Given the description of an element on the screen output the (x, y) to click on. 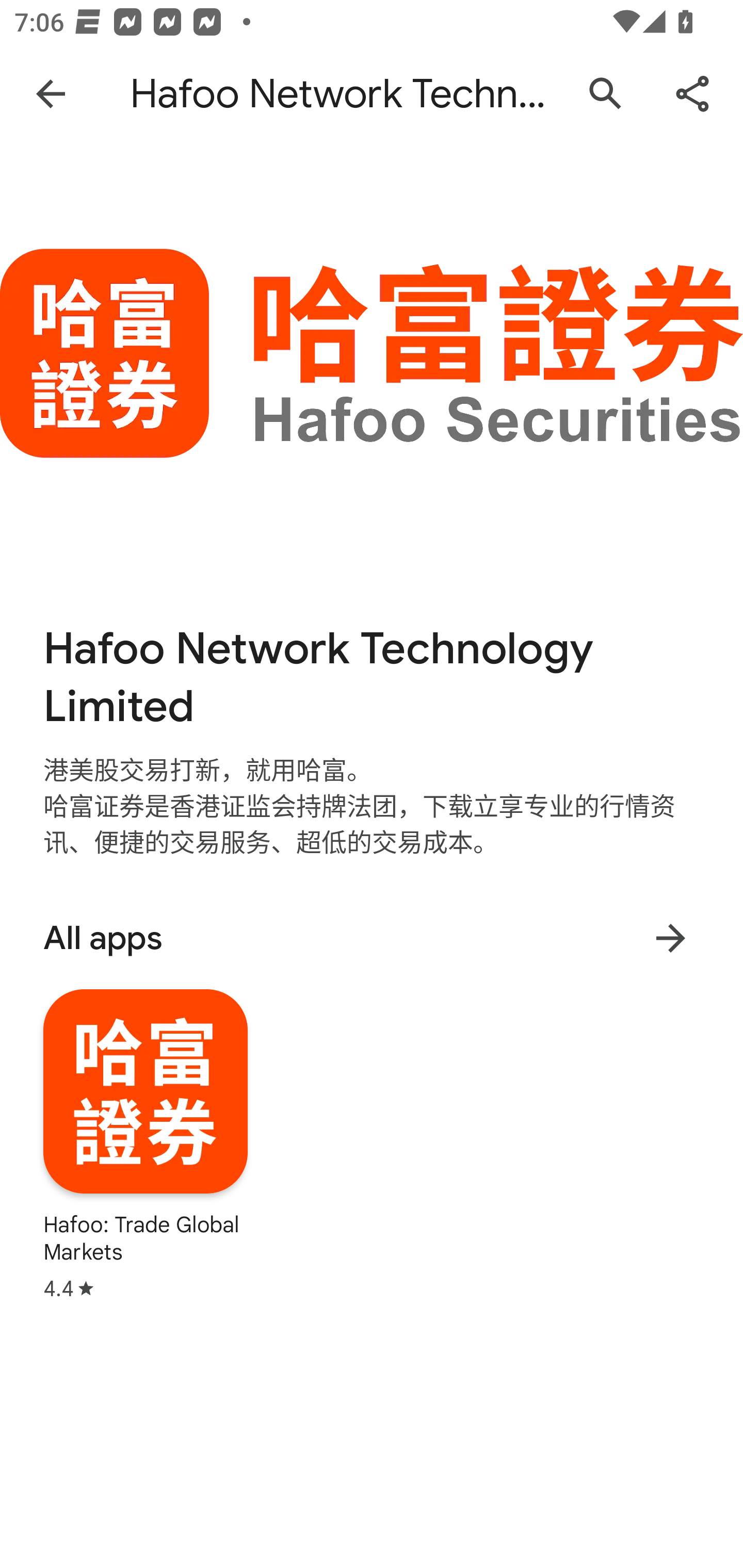
Navigate up (50, 93)
Search Google Play (605, 93)
Share (692, 93)
All apps More results for All apps (371, 938)
More results for All apps (670, 938)
Hafoo: Trade Global Markets
Star rating: 4.4
 (145, 1144)
